Given the description of an element on the screen output the (x, y) to click on. 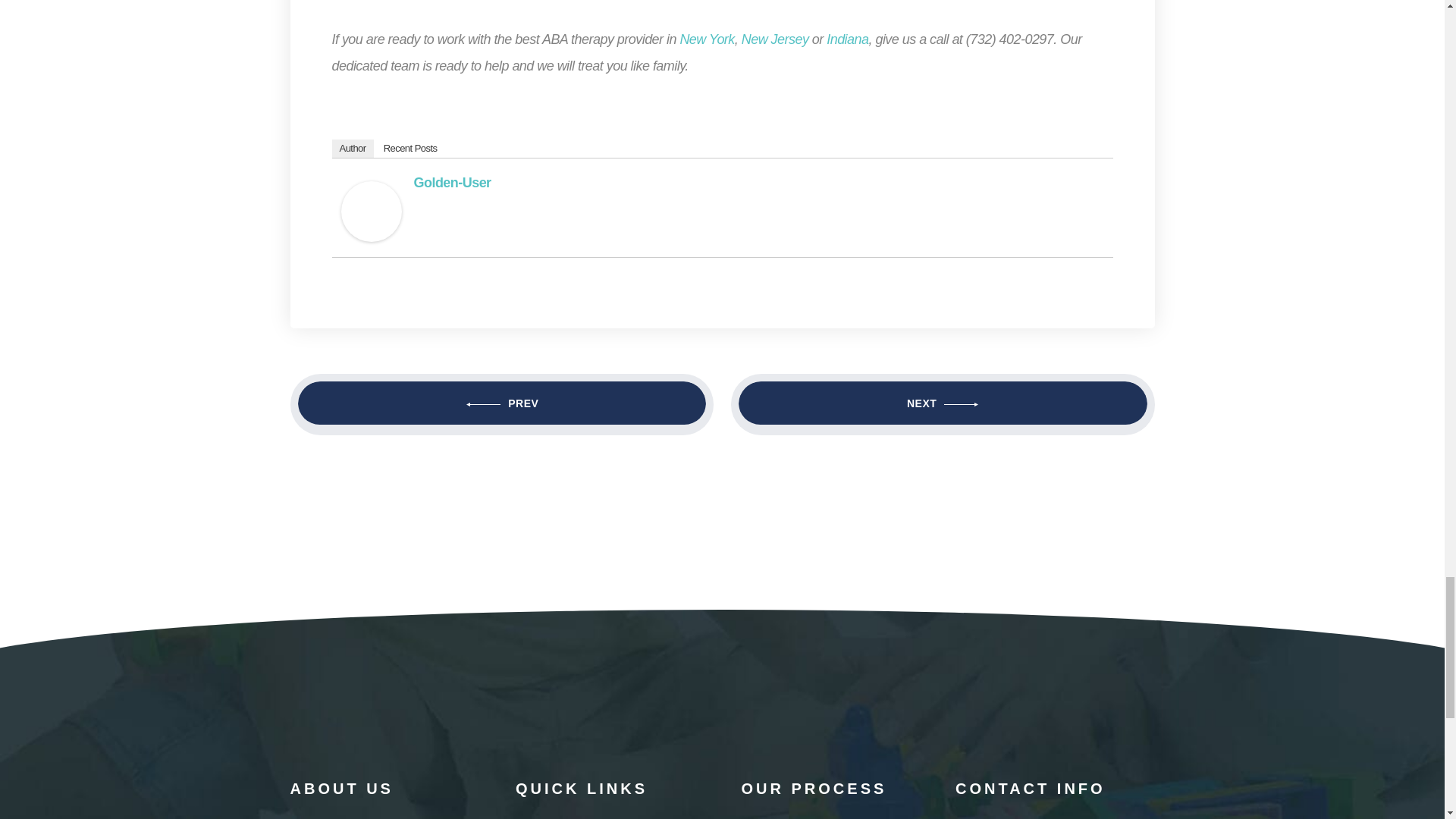
golden-user (370, 210)
